Given the description of an element on the screen output the (x, y) to click on. 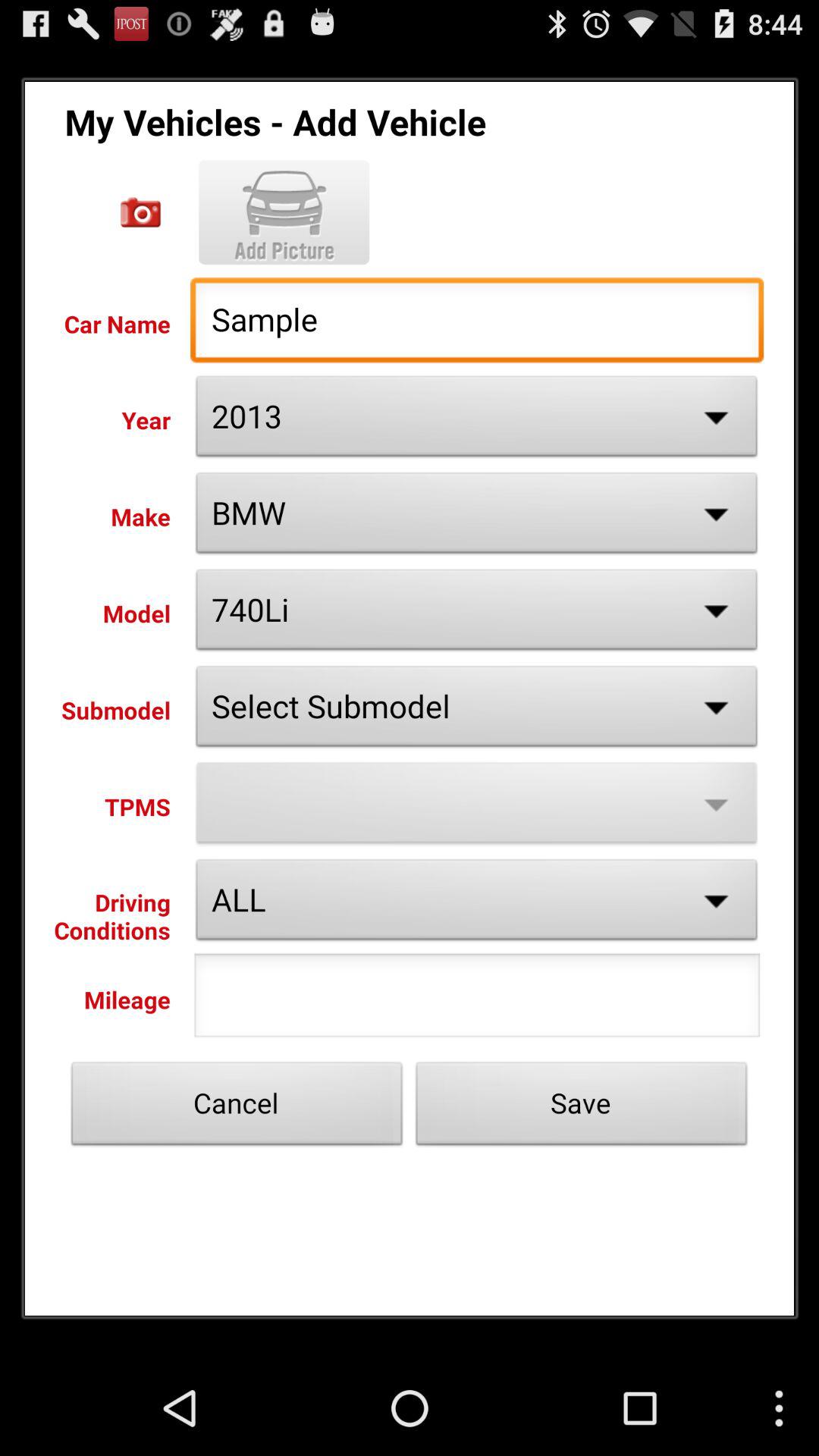
enter car name (140, 212)
